Given the description of an element on the screen output the (x, y) to click on. 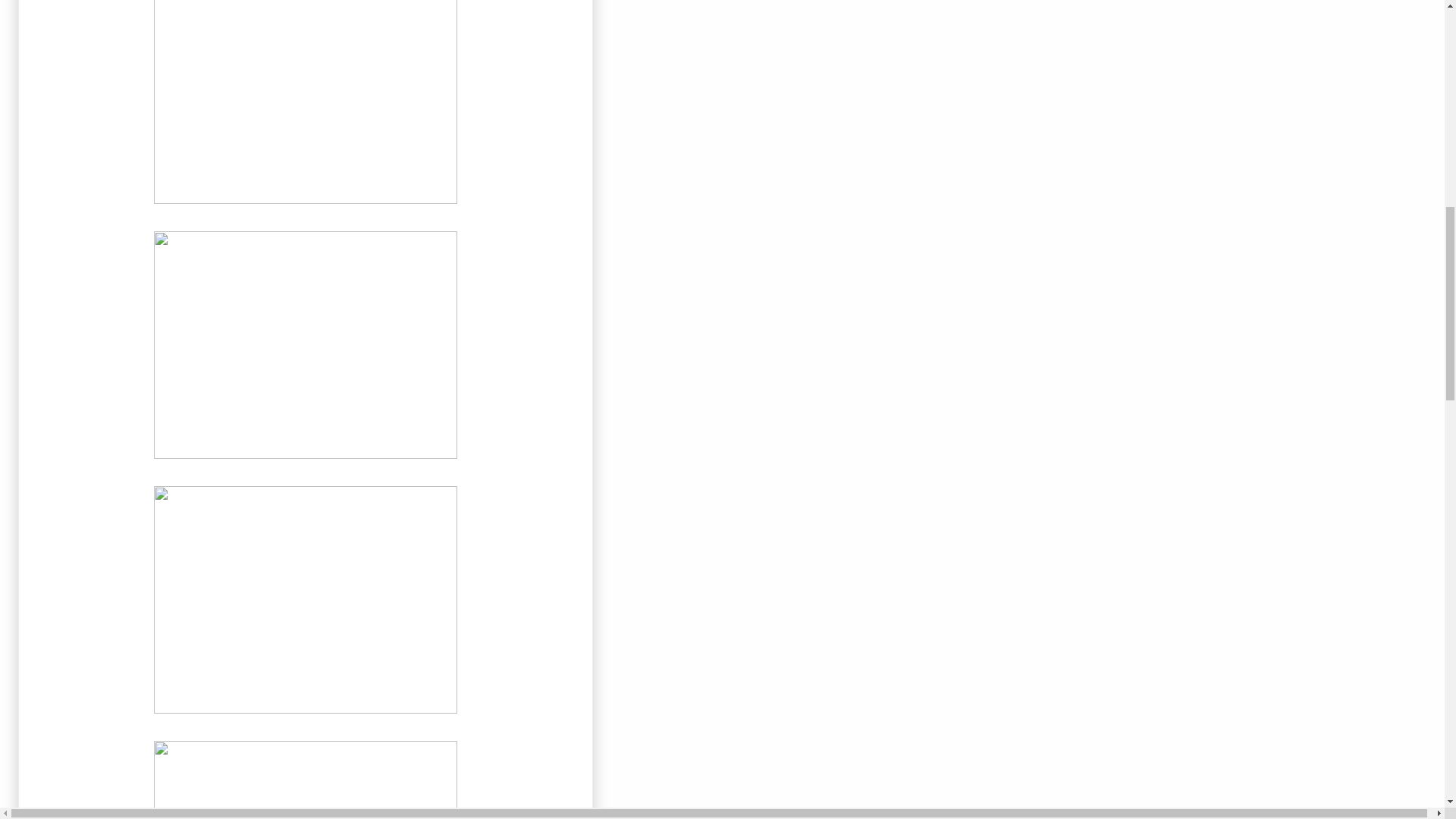
American Kestrel (305, 599)
American Kestrel (305, 776)
American Kestrel (305, 105)
American Kestrel (305, 345)
